Given the description of an element on the screen output the (x, y) to click on. 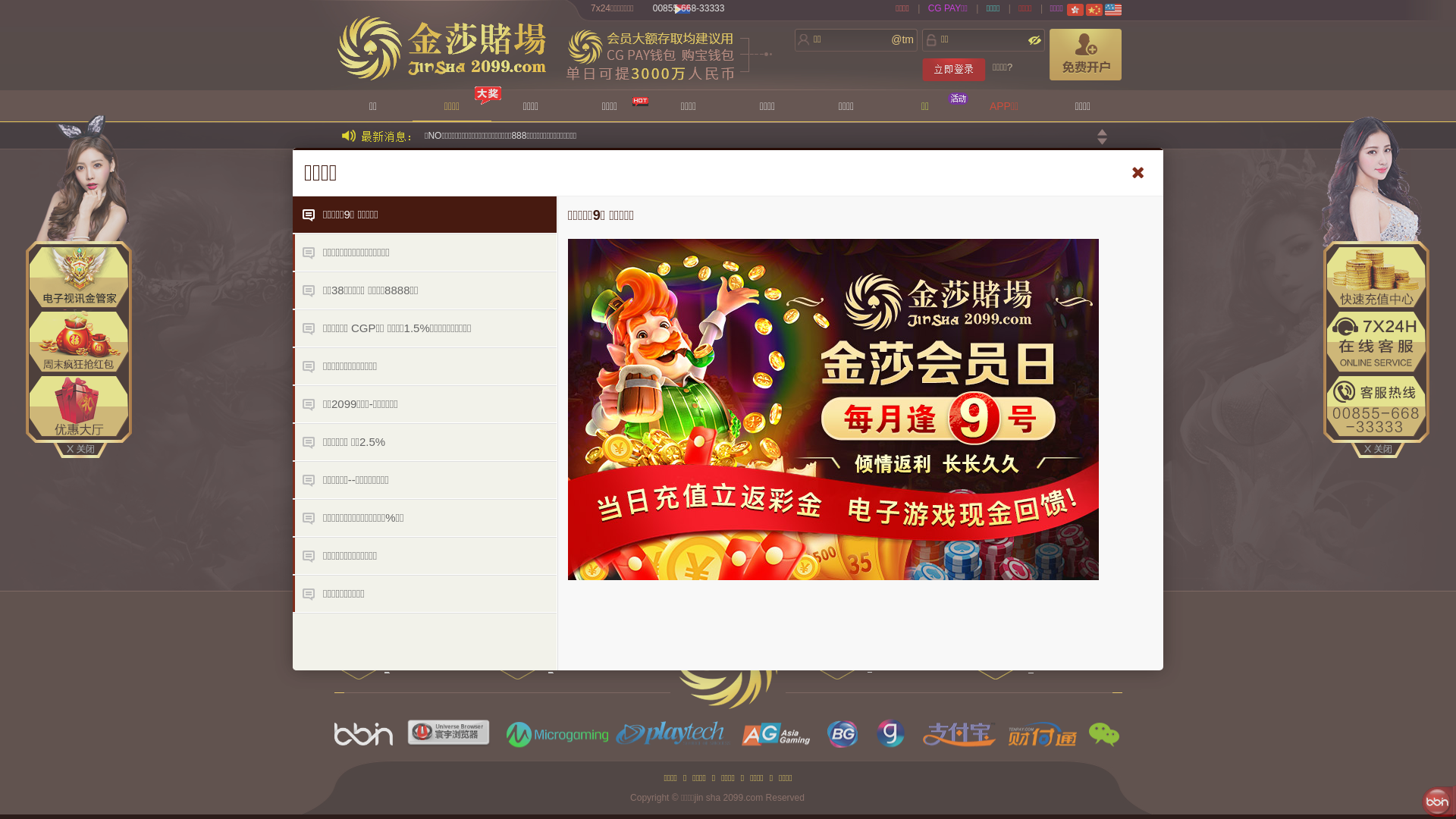
English Element type: hover (1112, 9)
